Given the description of an element on the screen output the (x, y) to click on. 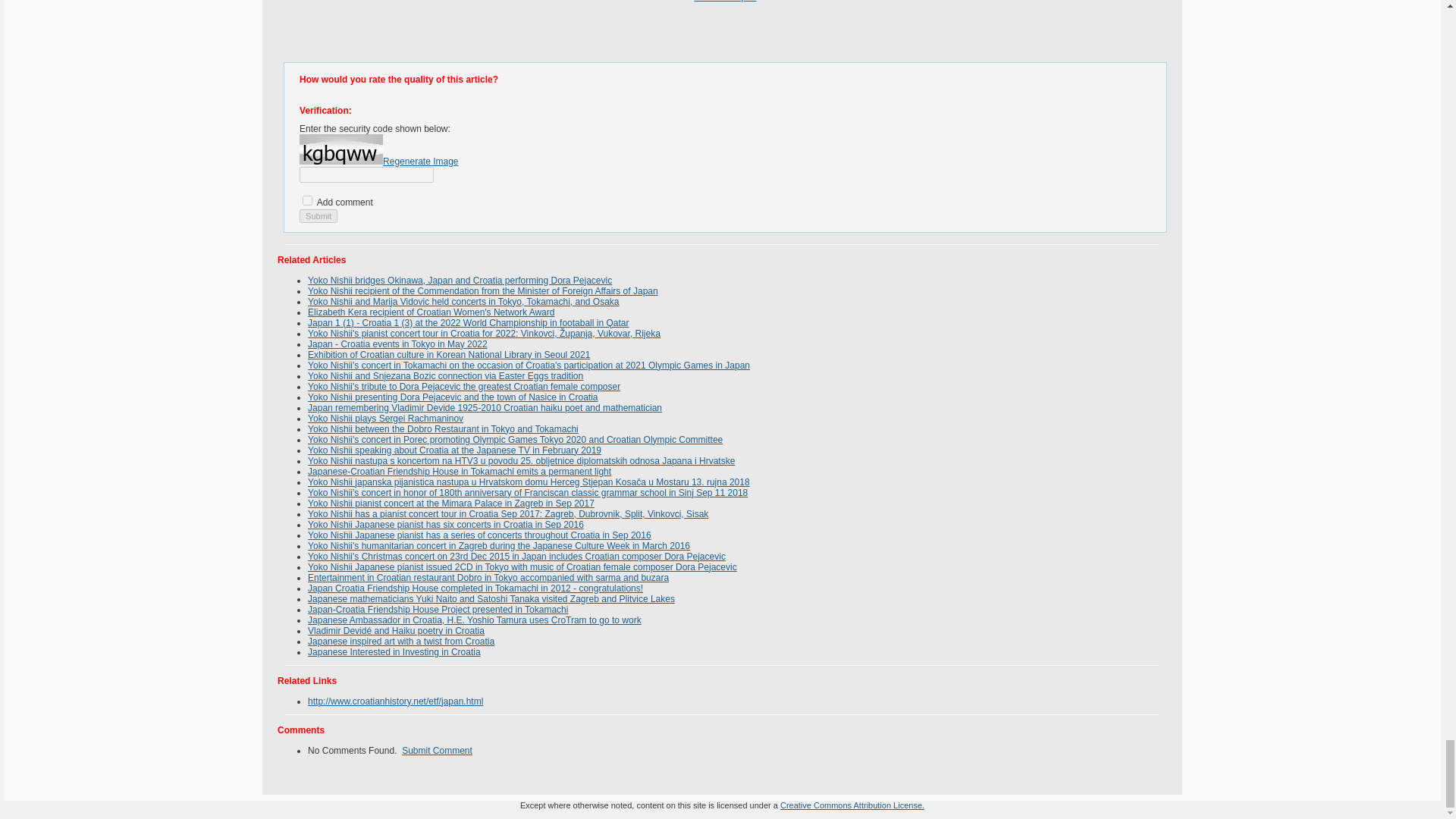
yes (307, 200)
Submit (318, 215)
Croatia - Japan (724, 0)
